Given the description of an element on the screen output the (x, y) to click on. 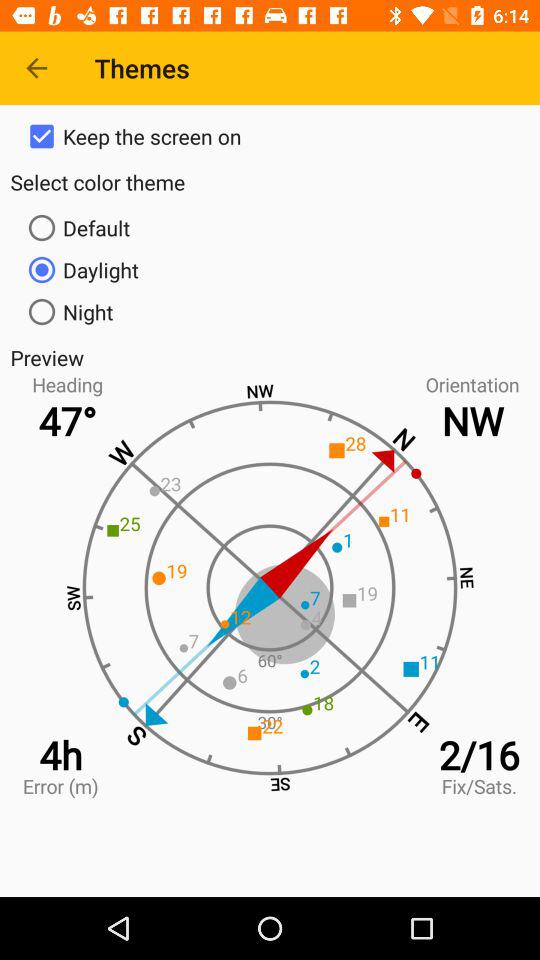
scroll until the night item (270, 311)
